Given the description of an element on the screen output the (x, y) to click on. 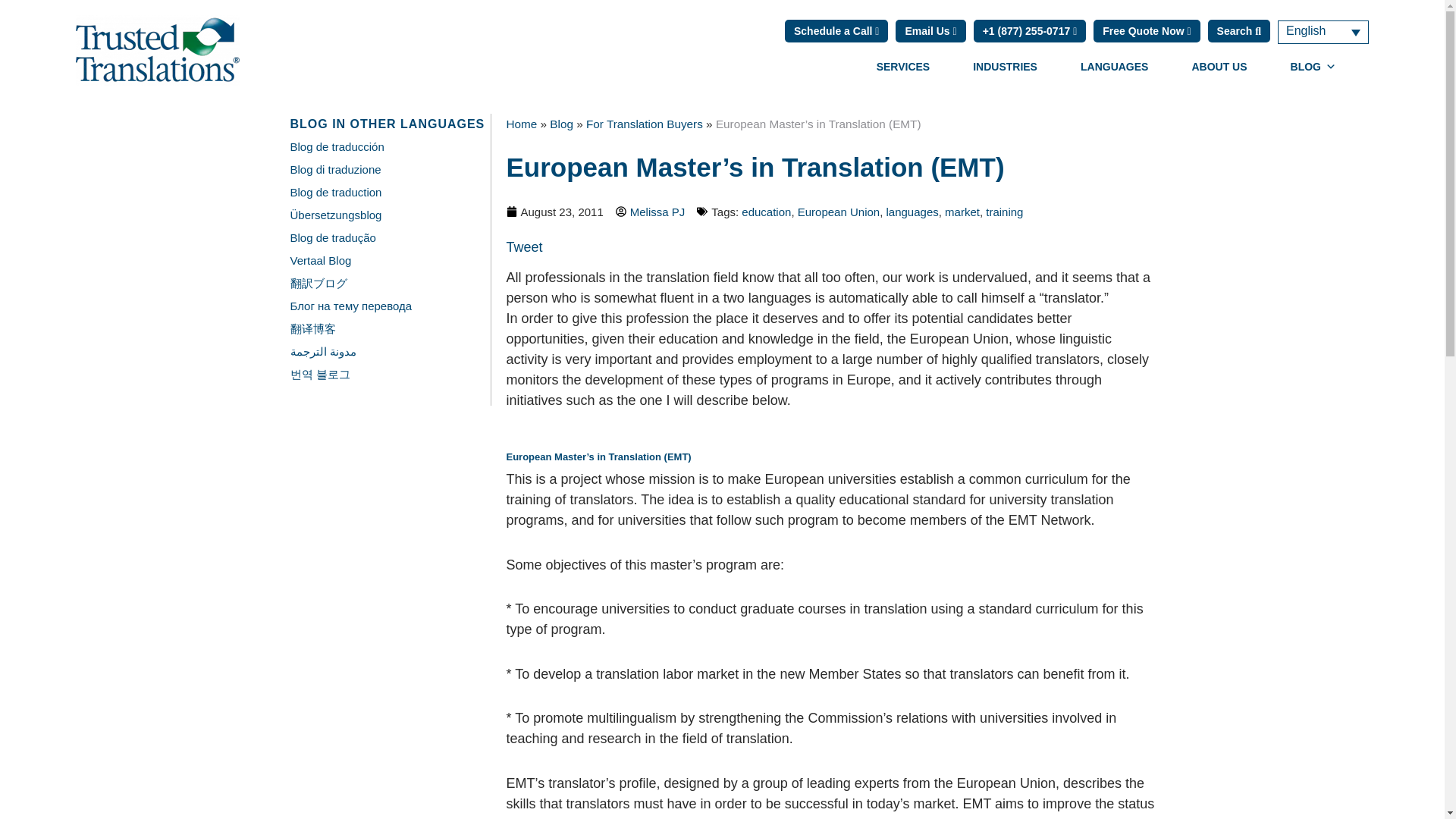
For Translation Buyers (644, 123)
ABOUT US (1218, 66)
BLOG (1312, 66)
Free Quote Now (1146, 30)
Search (1238, 30)
Blog (561, 123)
Email Us (930, 30)
Blog di traduzione (334, 169)
English (1323, 31)
Blog de traduction (335, 192)
